Given the description of an element on the screen output the (x, y) to click on. 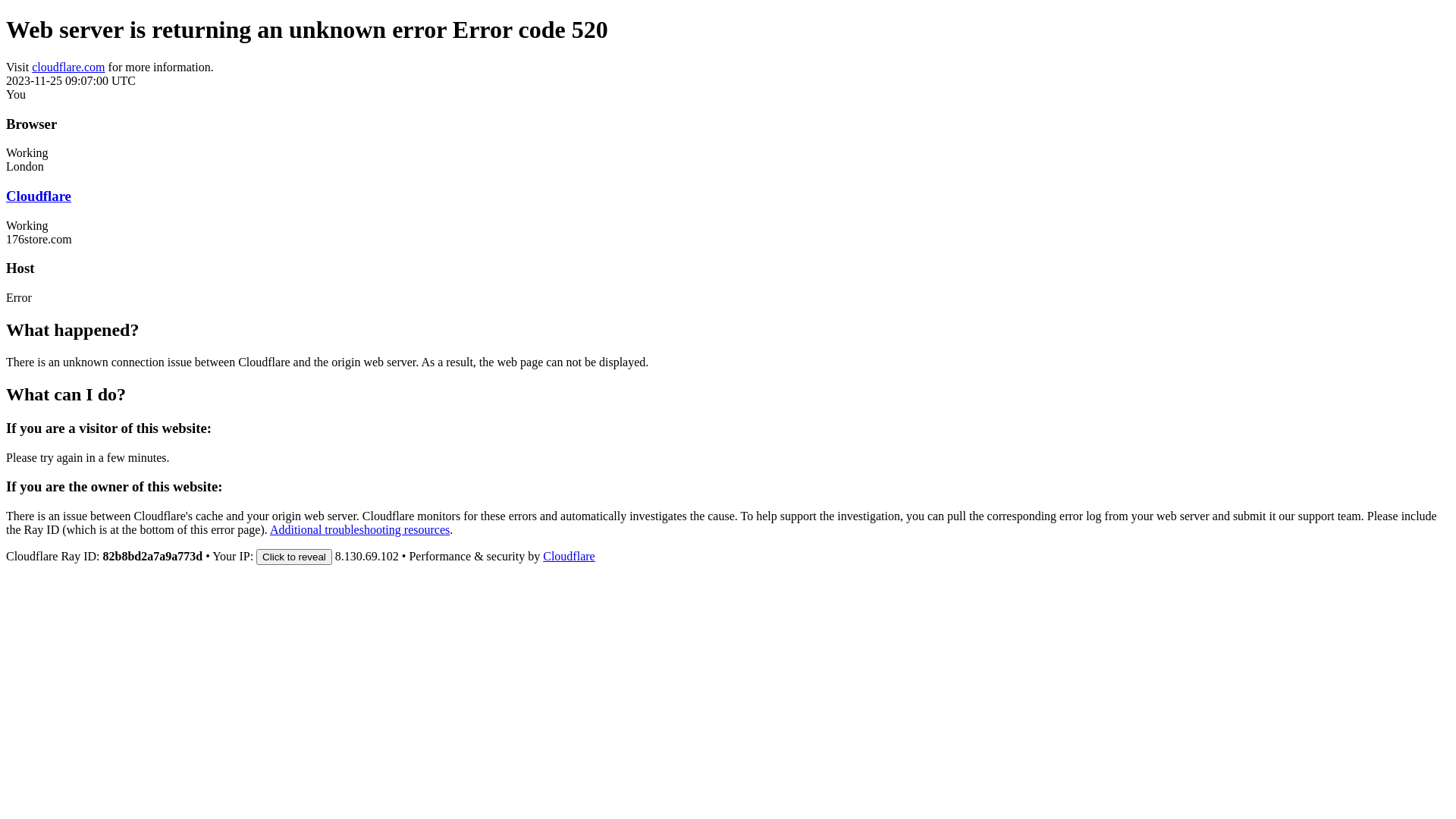
Cloudflare Element type: text (568, 555)
cloudflare.com Element type: text (67, 66)
Click to reveal Element type: text (294, 556)
Cloudflare Element type: text (38, 195)
Additional troubleshooting resources Element type: text (359, 529)
